Given the description of an element on the screen output the (x, y) to click on. 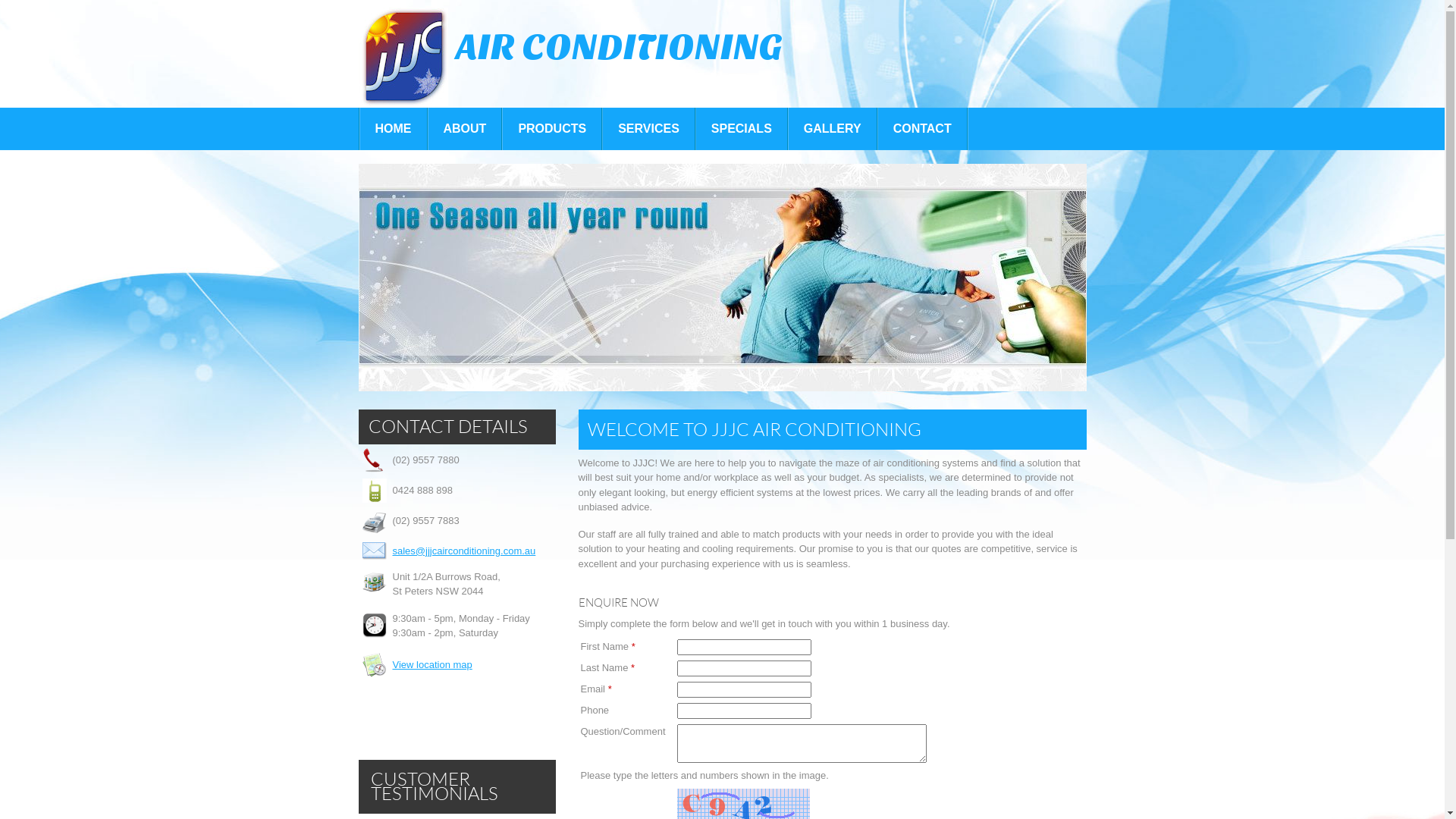
SERVICES Element type: text (648, 128)
 AIR CONDITIONING  Element type: text (573, 56)
CONTACT Element type: text (922, 128)
PRODUCTS Element type: text (551, 128)
View location map Element type: text (432, 664)
sales@jjjcairconditioning.com.au Element type: text (464, 550)
GALLERY Element type: text (832, 128)
ABOUT Element type: text (464, 128)
HOME Element type: text (392, 128)
SPECIALS Element type: text (741, 128)
